Given the description of an element on the screen output the (x, y) to click on. 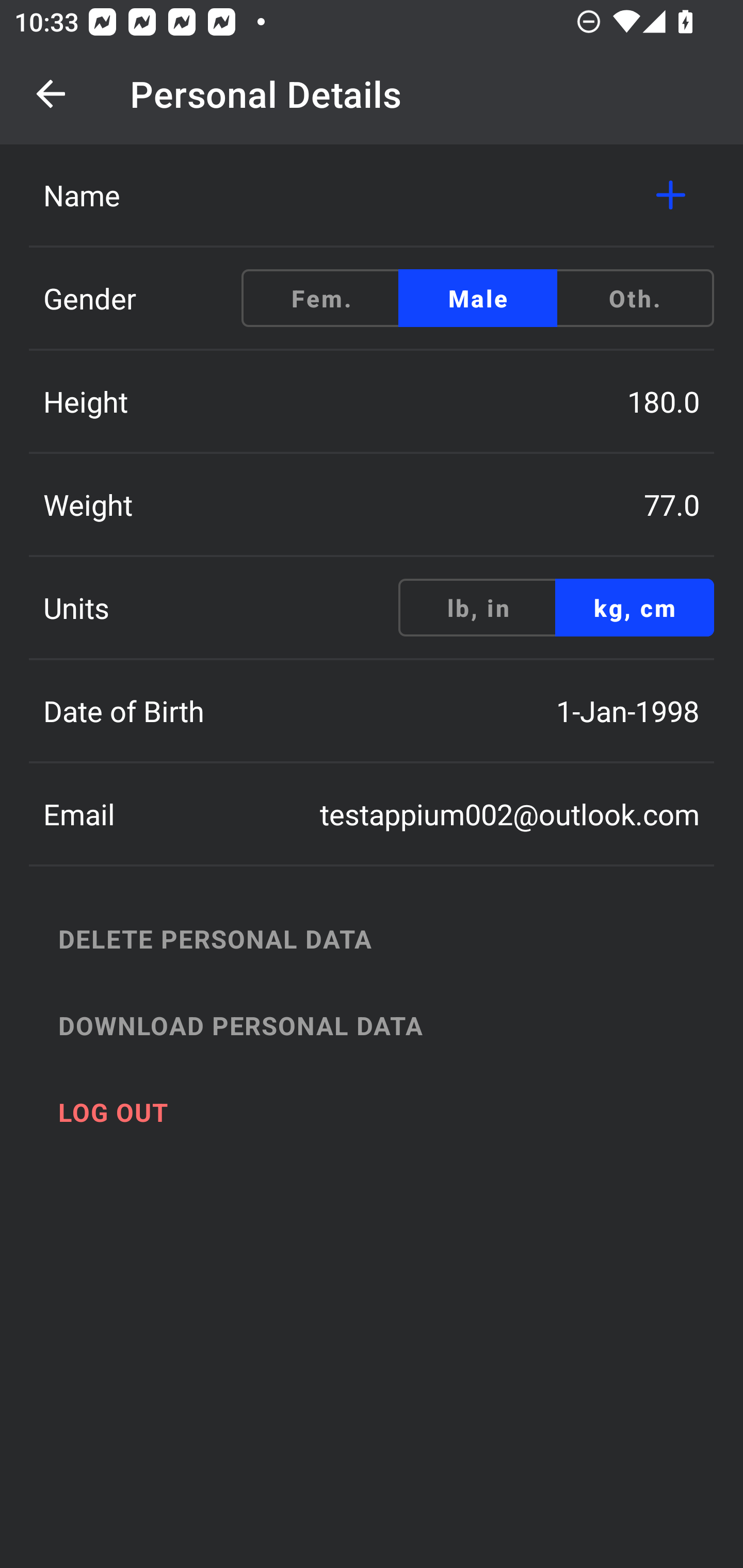
Name (371, 195)
Fem. (320, 298)
Male (477, 298)
Oth. (634, 298)
Height 180.0 (371, 401)
Weight 77.0 (371, 504)
lb, in (477, 607)
kg, cm (634, 607)
Date of Birth 1-Jan-1998 (371, 711)
Email testappium002@outlook.com (371, 813)
DELETE PERSONAL DATA (393, 938)
DOWNLOAD PERSONAL DATA (393, 1025)
LOG OUT (393, 1112)
